Given the description of an element on the screen output the (x, y) to click on. 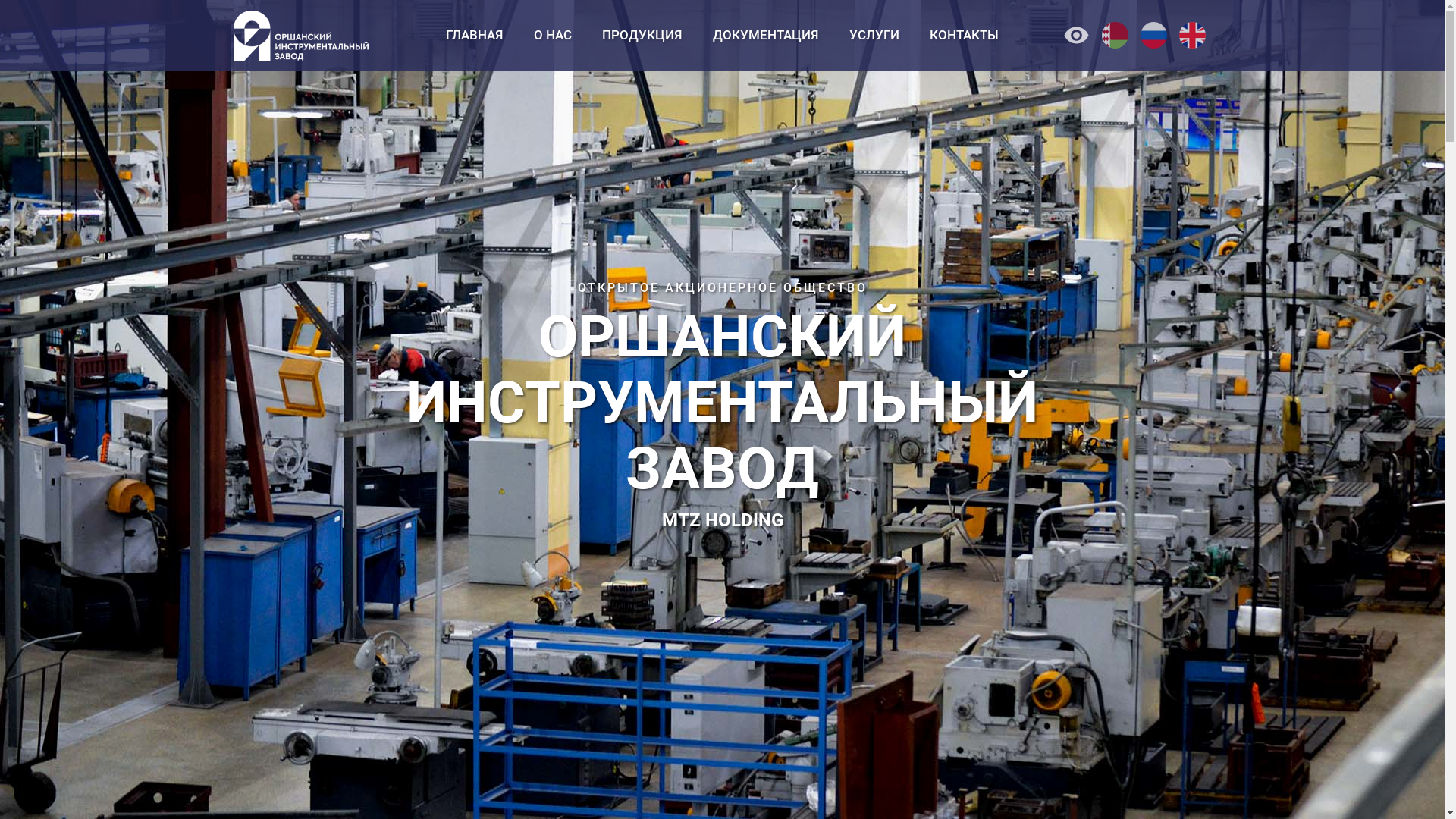
MTZ HOLDING Element type: text (721, 519)
